Given the description of an element on the screen output the (x, y) to click on. 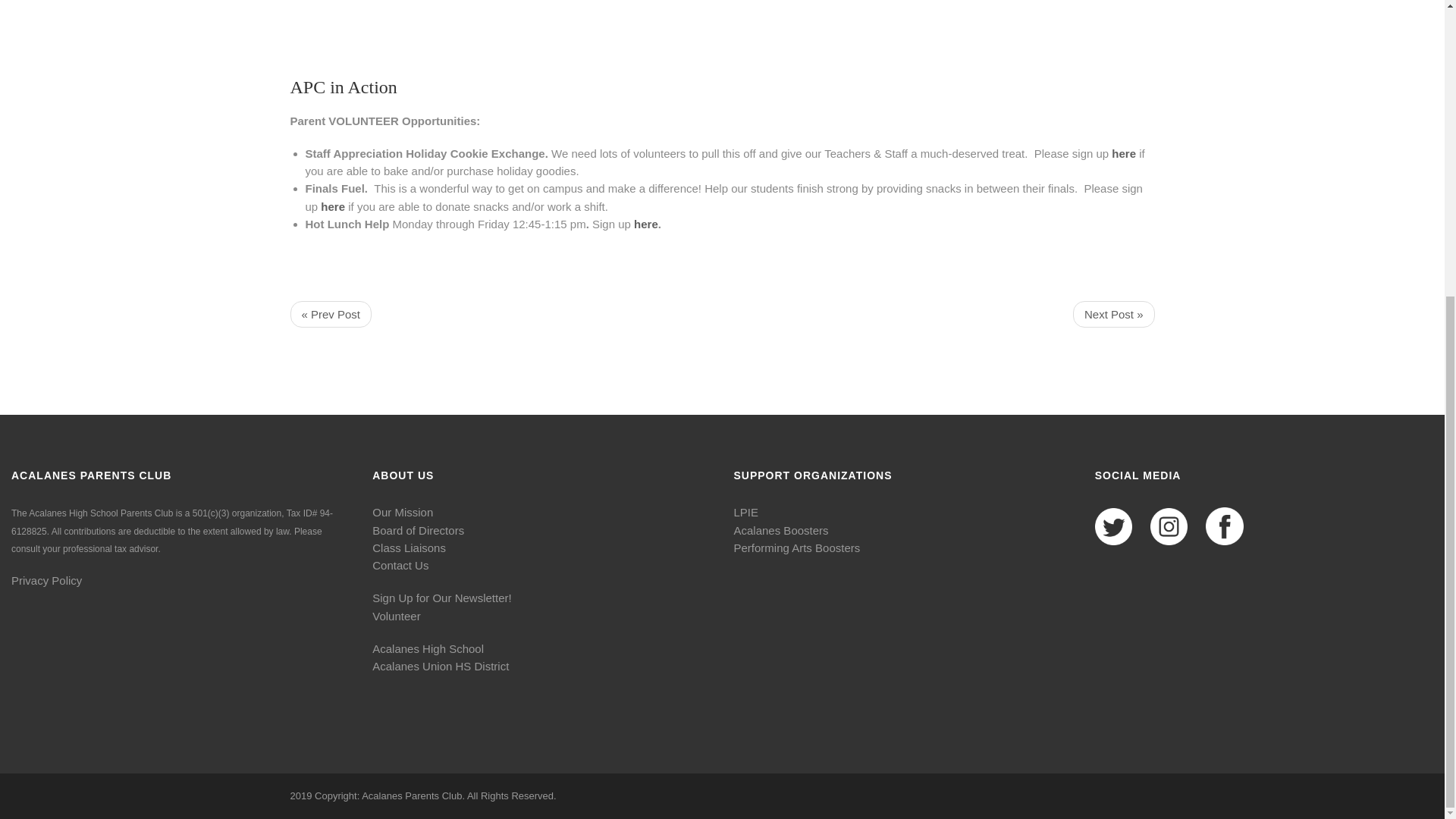
here (332, 205)
here (1123, 153)
here (645, 223)
